Given the description of an element on the screen output the (x, y) to click on. 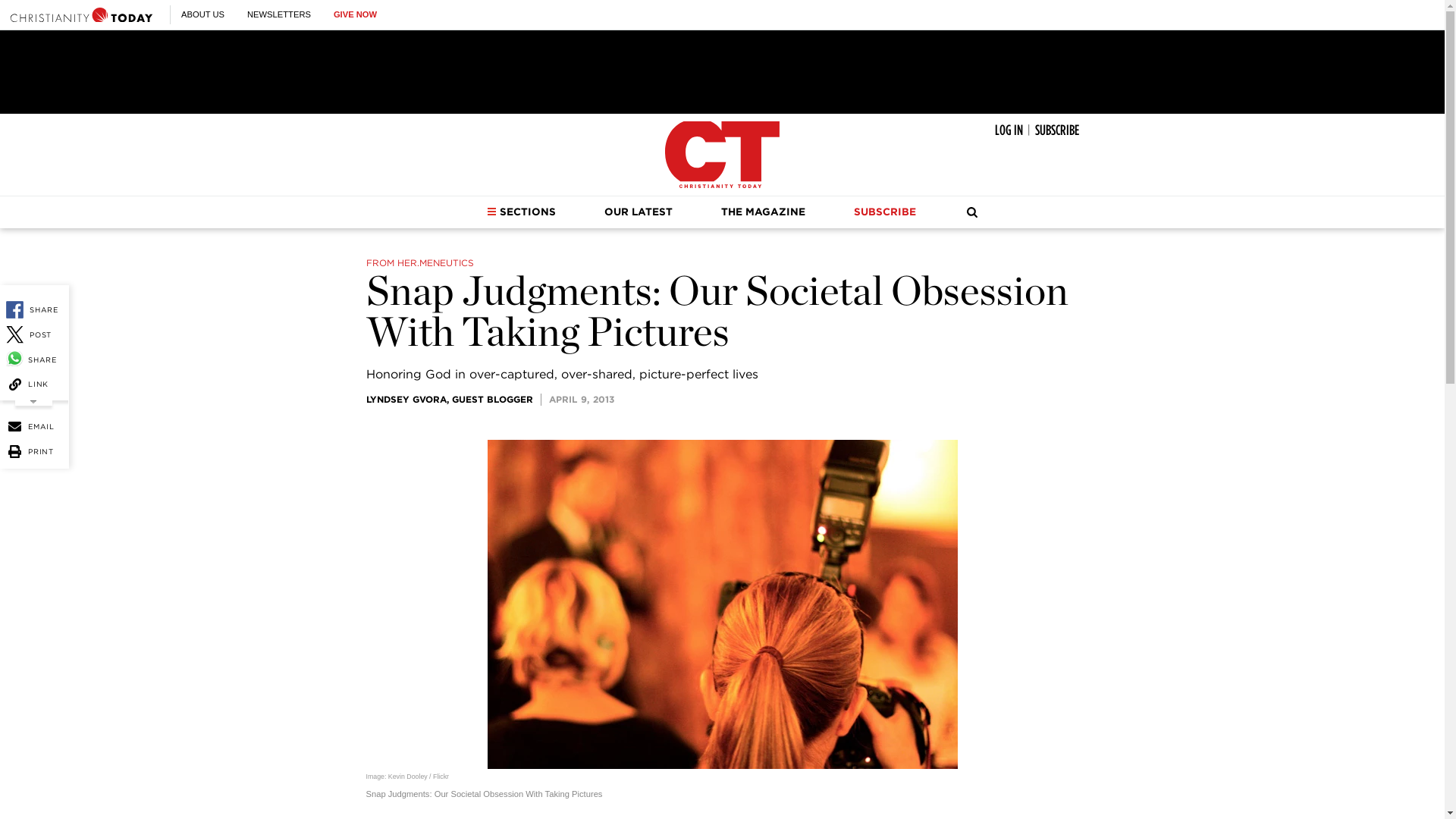
ABOUT US (202, 14)
Christianity Today (721, 154)
SUBSCRIBE (1055, 130)
GIVE NOW (355, 14)
Sections Dropdown (491, 211)
LOG IN (1008, 130)
SECTIONS (521, 212)
3rd party ad content (721, 71)
Christianity Today (81, 14)
NEWSLETTERS (278, 14)
